Given the description of an element on the screen output the (x, y) to click on. 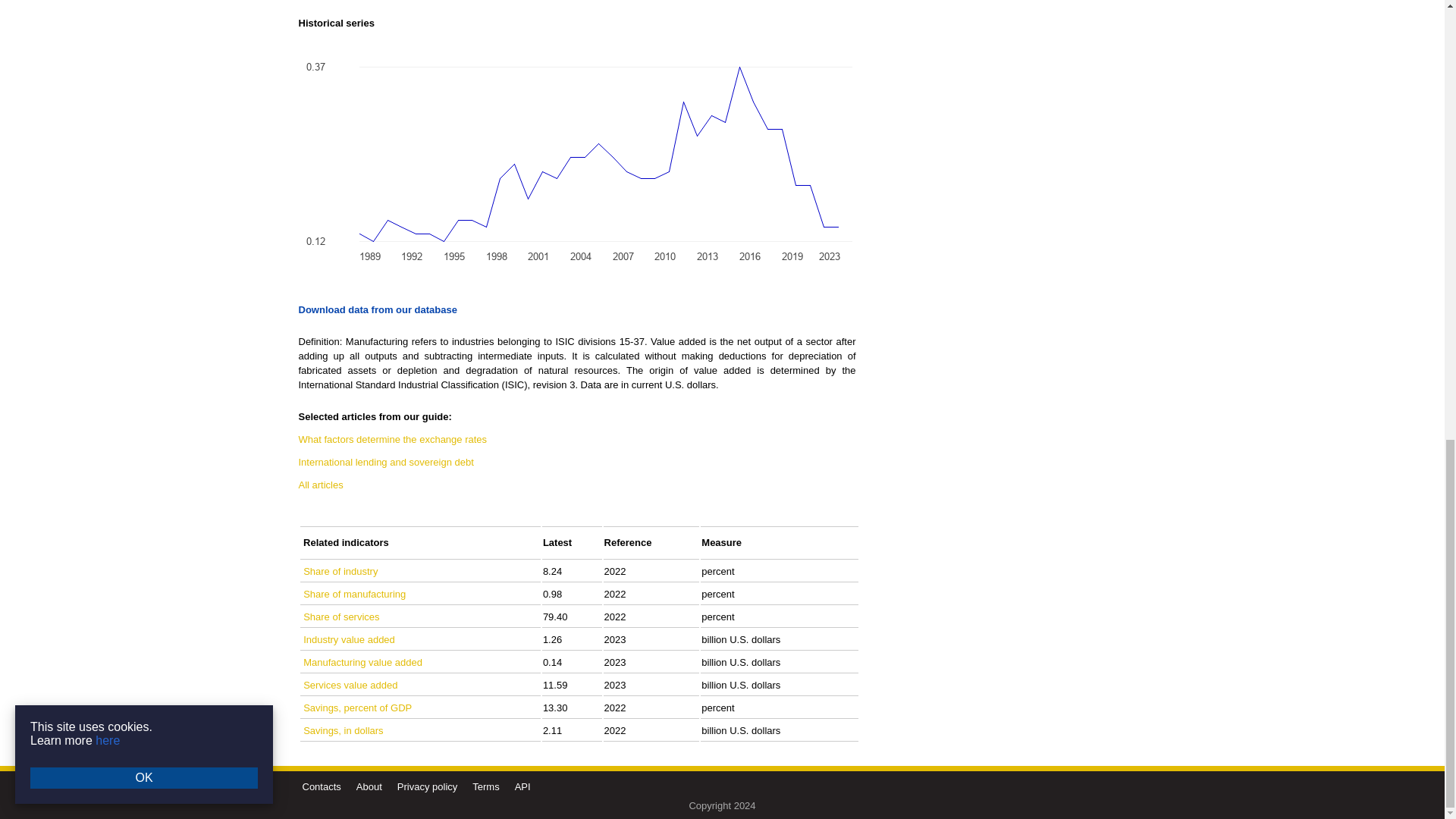
Download data from our database (377, 309)
What factors determine the exchange rates (392, 439)
